Given the description of an element on the screen output the (x, y) to click on. 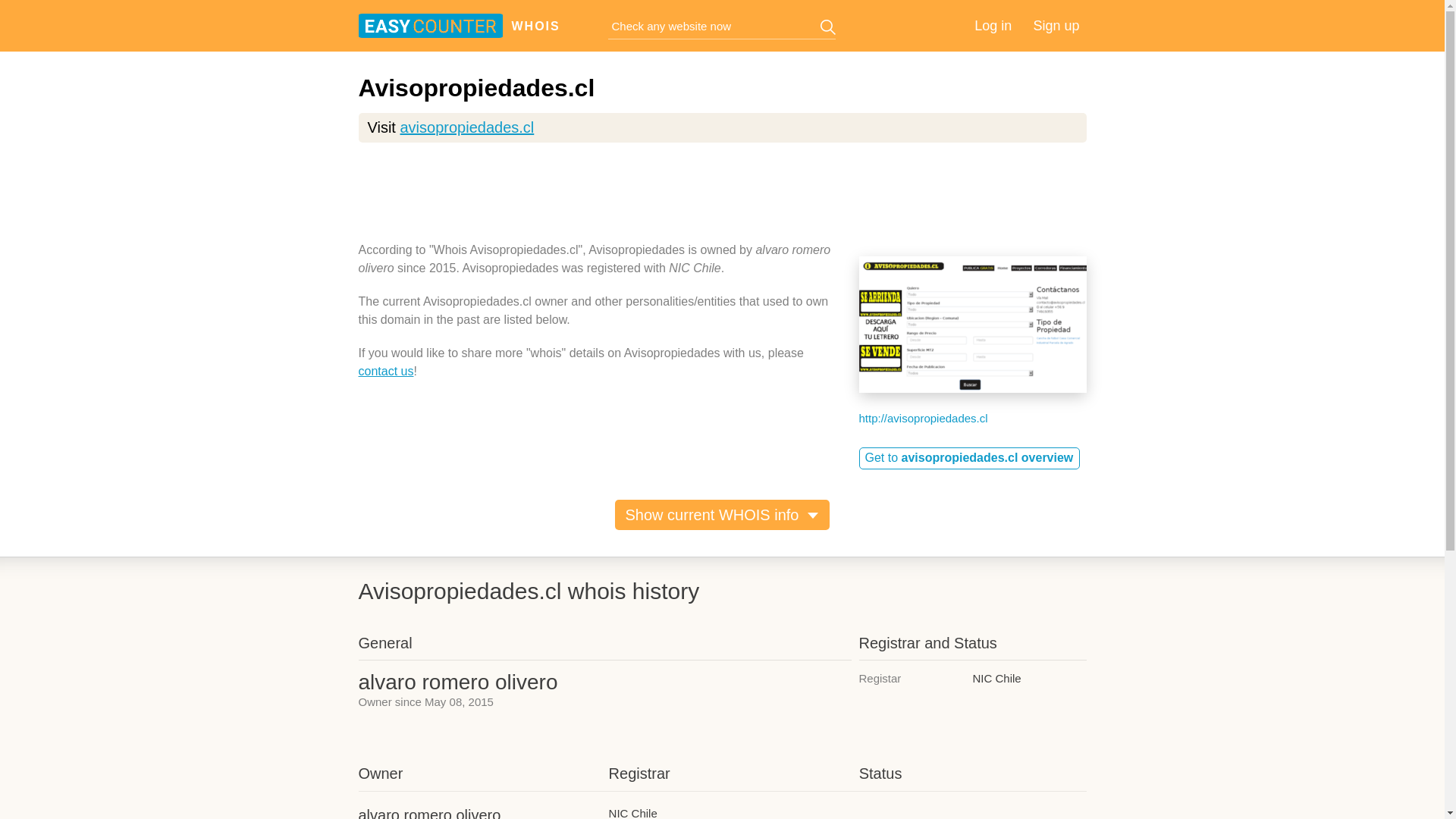
Get to avisopropiedades.cl overview (969, 458)
Avisopropiedades.cl thumbnail (972, 324)
Advertisement (722, 199)
avisopropiedades.cl (466, 126)
WHOIS (529, 26)
Get to avisopropiedades.cl overview (969, 458)
contact us (385, 370)
Log in (992, 25)
Show current WHOIS info (721, 514)
Sign up (1056, 25)
